Given the description of an element on the screen output the (x, y) to click on. 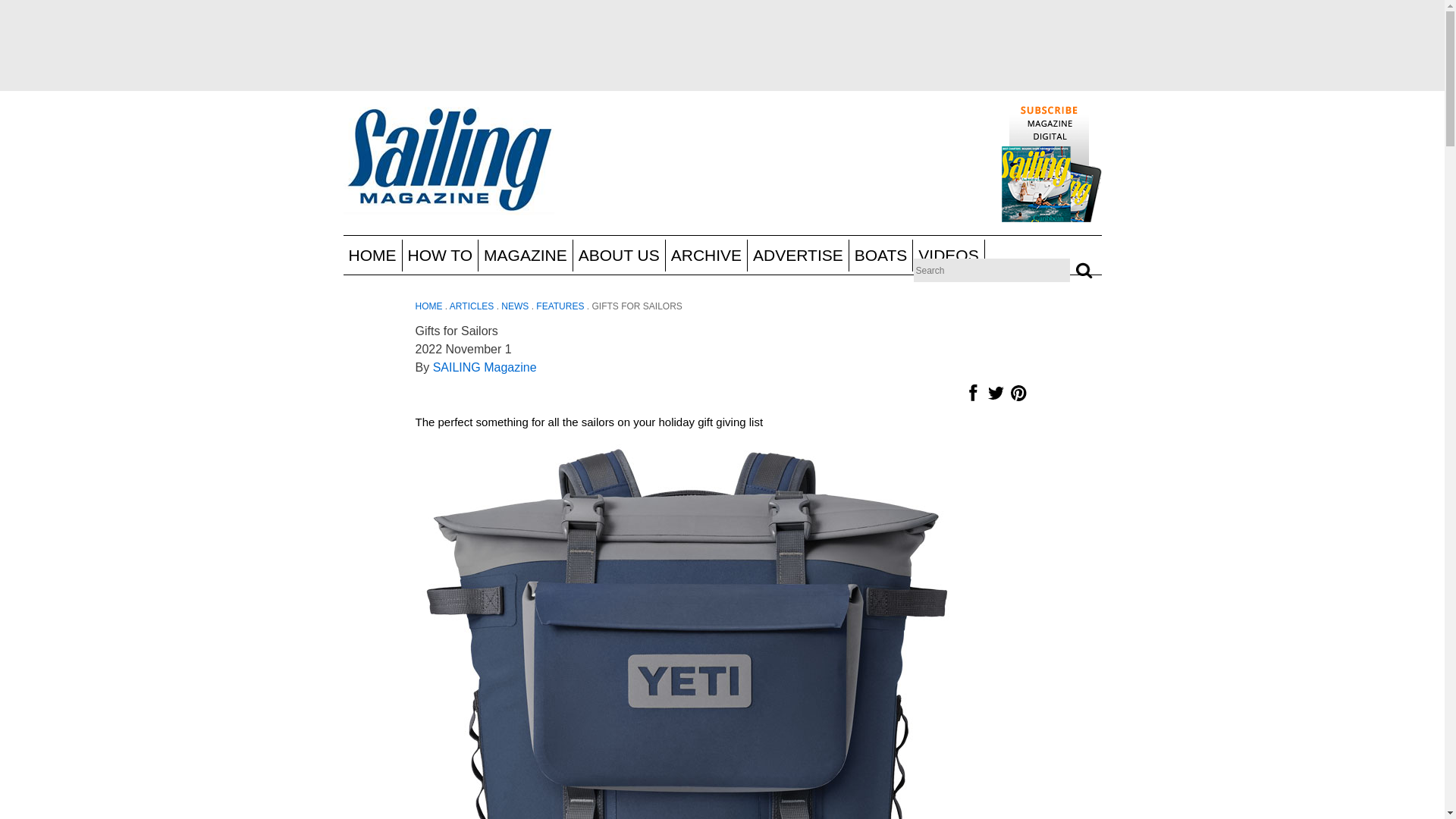
HOW TO (440, 255)
MAGAZINE (526, 255)
HOME (371, 255)
Sailing Magazine (447, 160)
ABOUT US (619, 255)
